Given the description of an element on the screen output the (x, y) to click on. 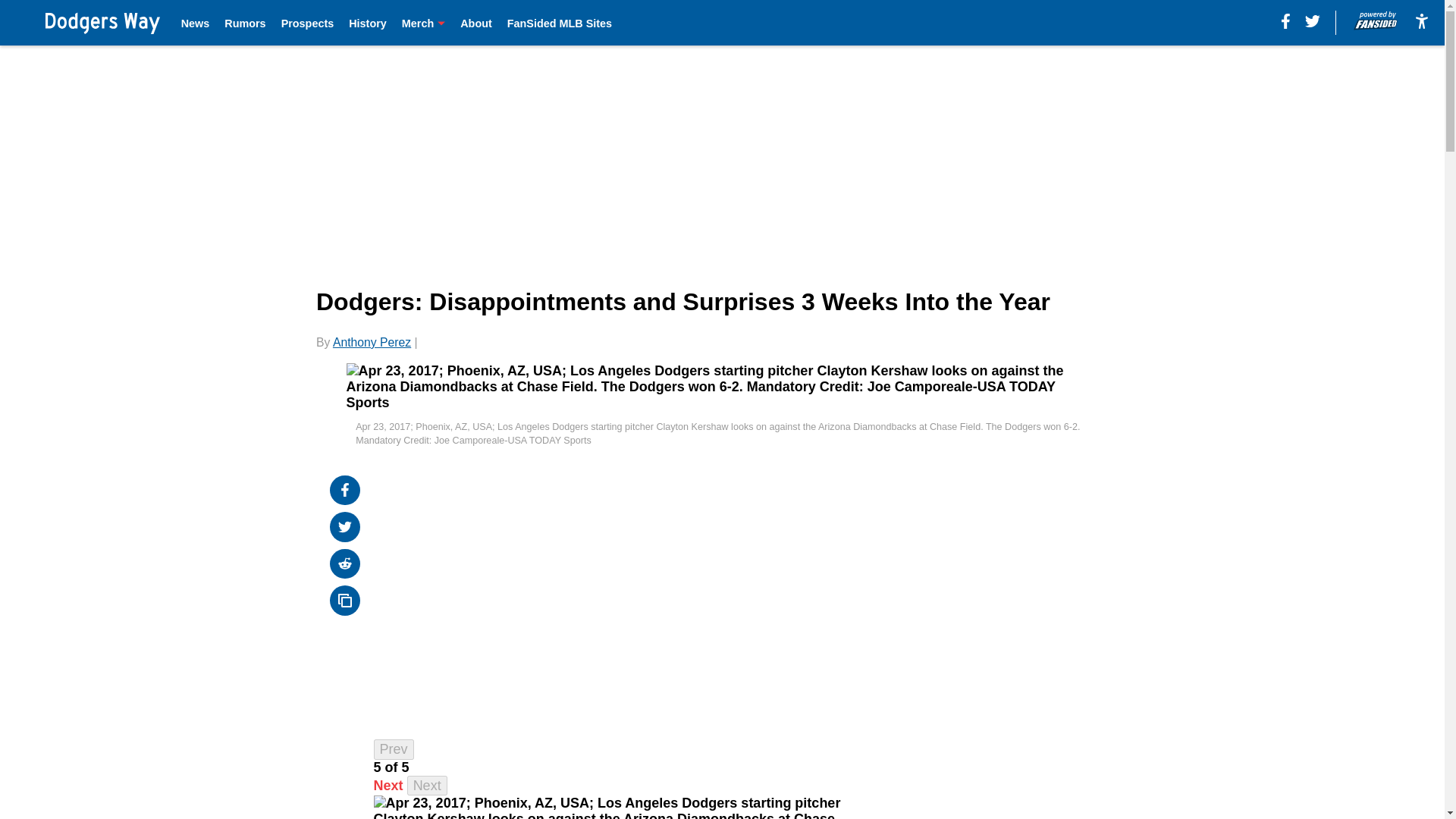
Next (426, 785)
History (368, 23)
About (476, 23)
Prospects (307, 23)
Rumors (244, 23)
FanSided MLB Sites (558, 23)
Next (388, 785)
Prev (393, 749)
Anthony Perez (371, 341)
News (194, 23)
